Given the description of an element on the screen output the (x, y) to click on. 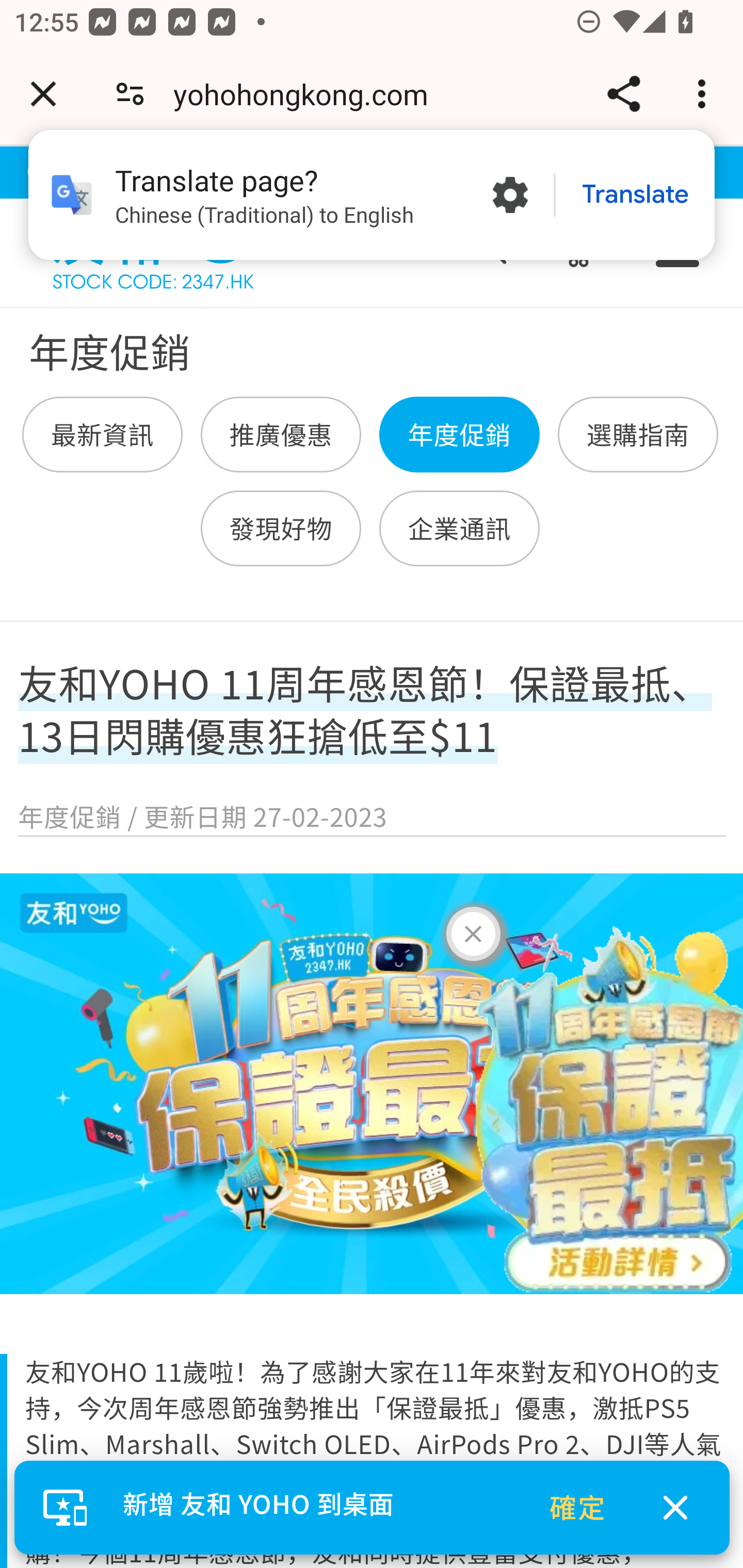
Close tab (43, 93)
Share (623, 93)
Customize and control Google Chrome (705, 93)
Connection is secure (129, 93)
yohohongkong.com (307, 93)
Translate (634, 195)
More options in the Translate page? (509, 195)
最新資訊 (102, 435)
推廣優惠 (280, 435)
年度促銷 (458, 435)
選購指南 (637, 435)
發現好物 (280, 528)
企業通訊 (458, 528)
確定 (578, 1506)
